Given the description of an element on the screen output the (x, y) to click on. 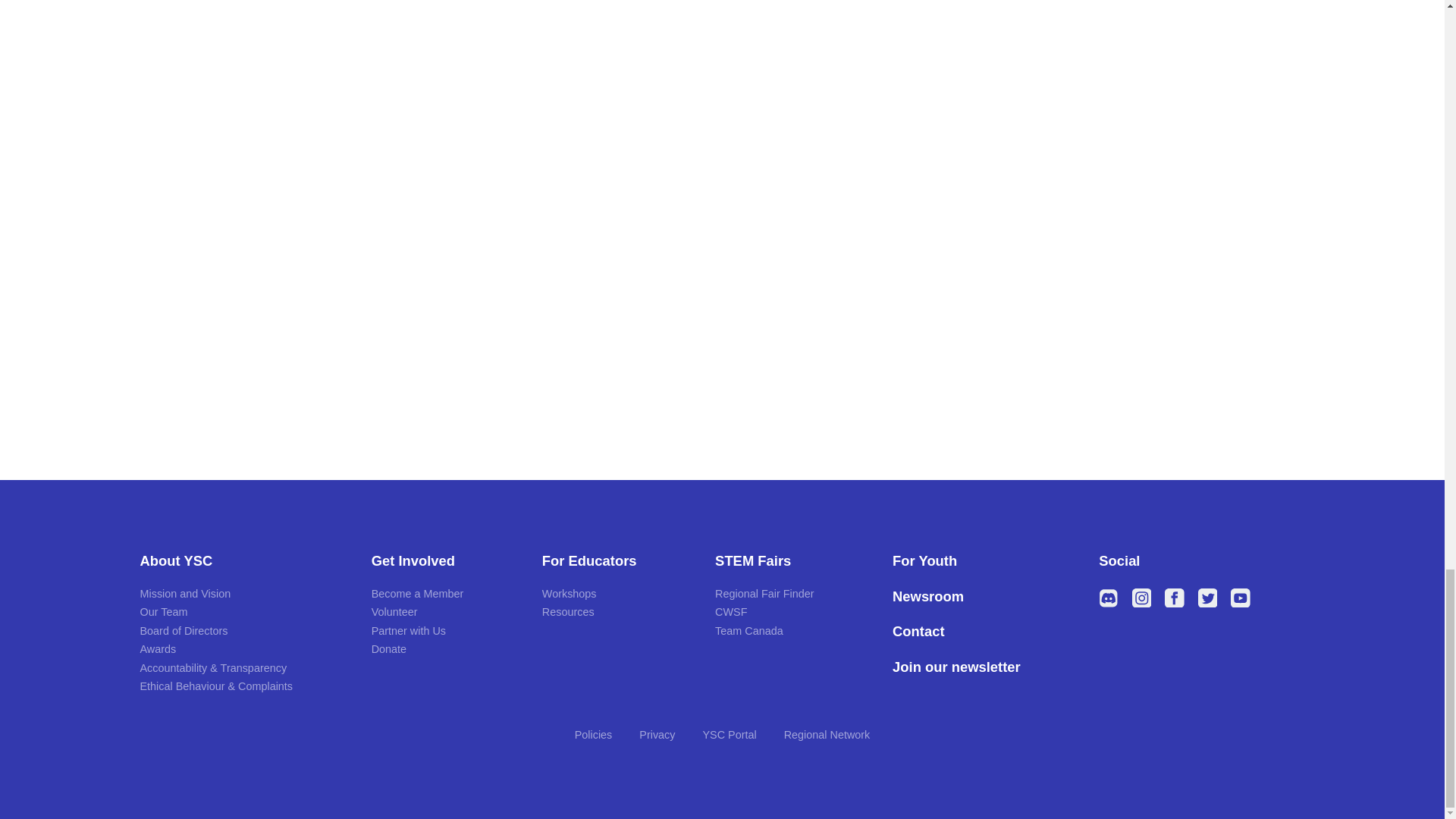
Awards (157, 648)
Our Team (163, 612)
About YSC (242, 560)
Board of Directors (183, 630)
Mission and Vision (184, 593)
